Given the description of an element on the screen output the (x, y) to click on. 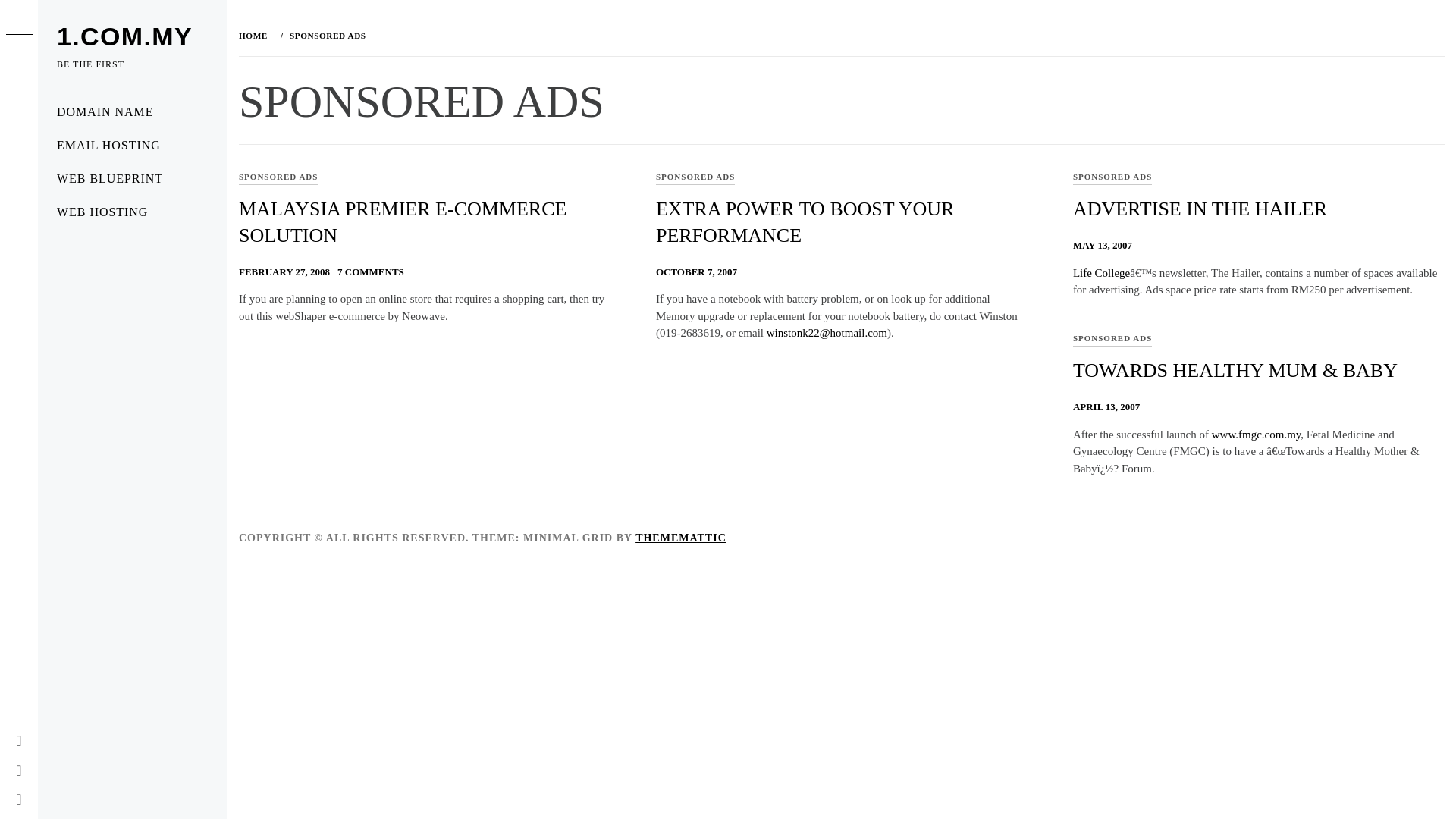
DOMAIN NAME (132, 111)
FEBRUARY 27, 2008 (284, 271)
SPONSORED ADS (1112, 176)
MAY 13, 2007 (1102, 244)
ADVERTISE IN THE HAILER (1199, 209)
MALAYSIA PREMIER E-COMMERCE SOLUTION (402, 222)
APRIL 13, 2007 (1106, 406)
SPONSORED ADS (277, 176)
SPONSORED ADS (326, 35)
www.fmgc.com.my (1256, 434)
WEB BLUEPRINT (132, 178)
EXTRA POWER TO BOOST YOUR PERFORMANCE (804, 222)
EMAIL HOSTING (132, 145)
1.COM.MY (124, 36)
Life College (1101, 272)
